Given the description of an element on the screen output the (x, y) to click on. 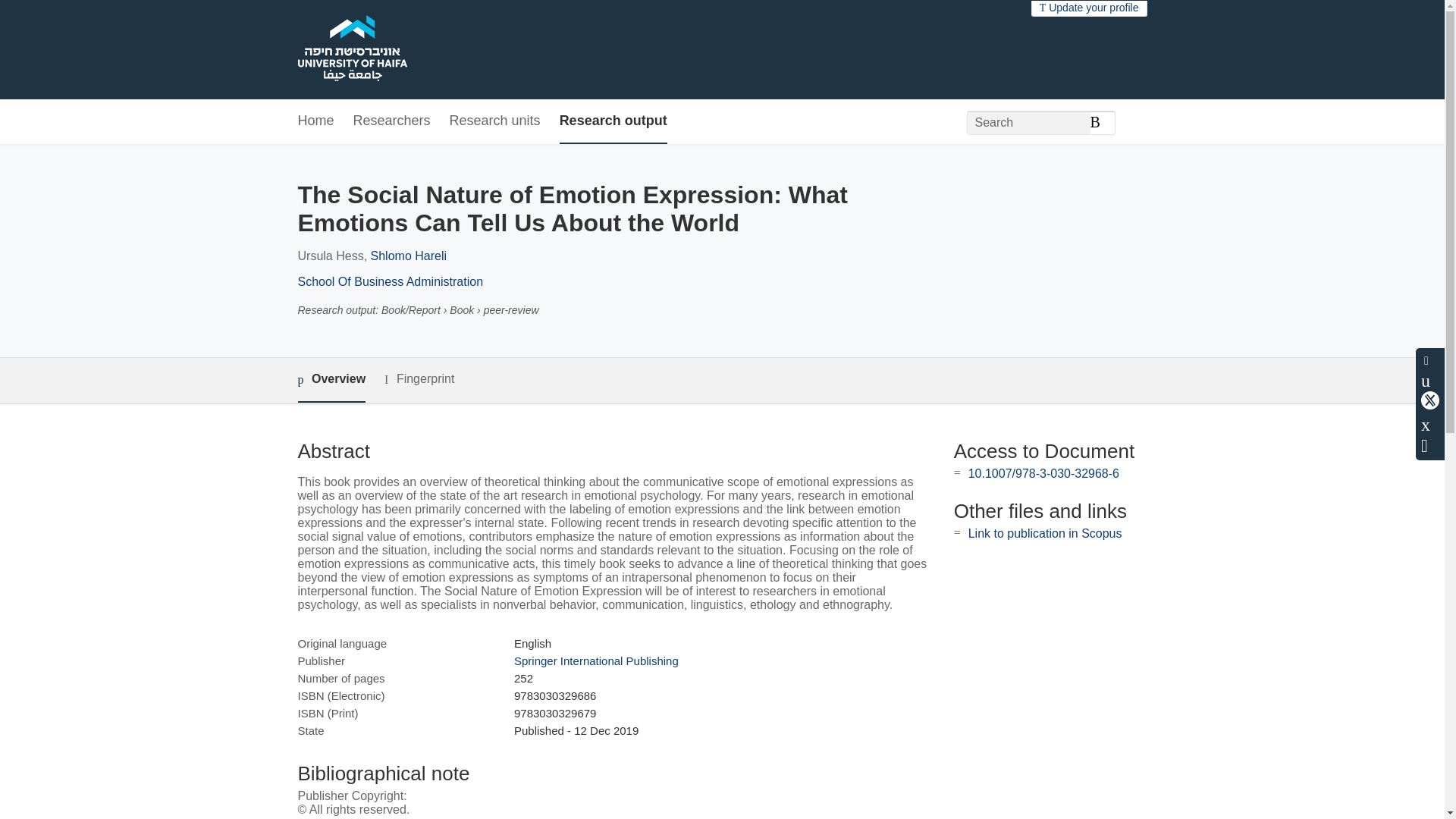
Shlomo Hareli (408, 255)
Research units (494, 121)
Update your profile (1089, 7)
Overview (331, 379)
Home (315, 121)
Researchers (391, 121)
Fingerprint (419, 379)
School Of Business Administration (390, 281)
Link to publication in Scopus (1045, 533)
Research output (612, 121)
University of Haifa Home (351, 49)
Springer International Publishing (595, 660)
